Given the description of an element on the screen output the (x, y) to click on. 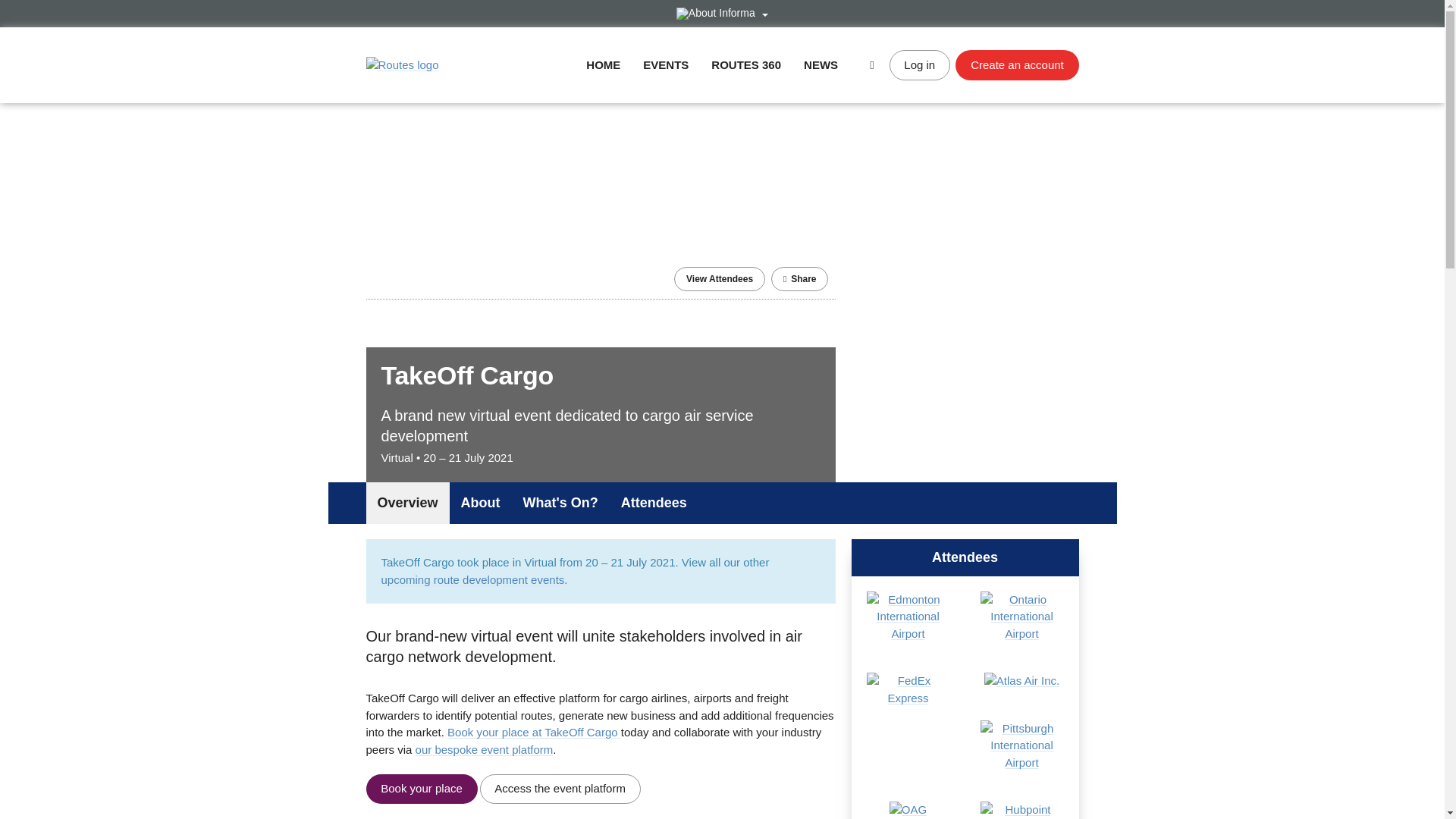
Create an account (1016, 64)
View Attendees (719, 278)
HOME (603, 64)
Routes (401, 64)
ROUTES 360 (745, 64)
EVENTS (665, 64)
NEWS (820, 64)
Log in (919, 64)
